Given the description of an element on the screen output the (x, y) to click on. 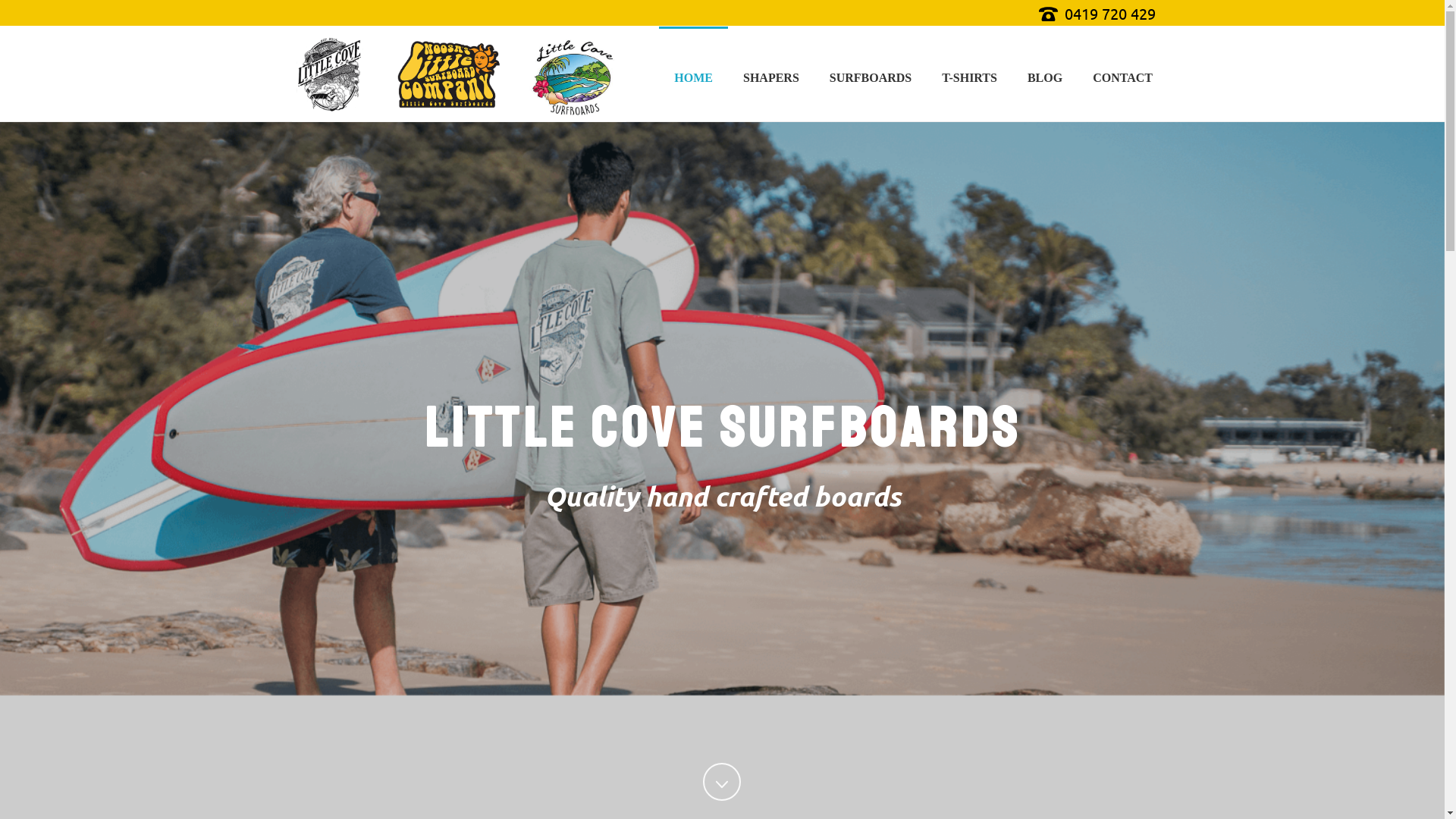
SURFBOARDS Element type: text (870, 73)
T-SHIRTS Element type: text (969, 73)
HOME Element type: text (693, 73)
0419 720 429 Element type: text (1109, 12)
CONTACT Element type: text (1122, 73)
BLOG Element type: text (1044, 73)
SHAPERS Element type: text (771, 73)
Just another WordPress site Element type: hover (458, 73)
